Given the description of an element on the screen output the (x, y) to click on. 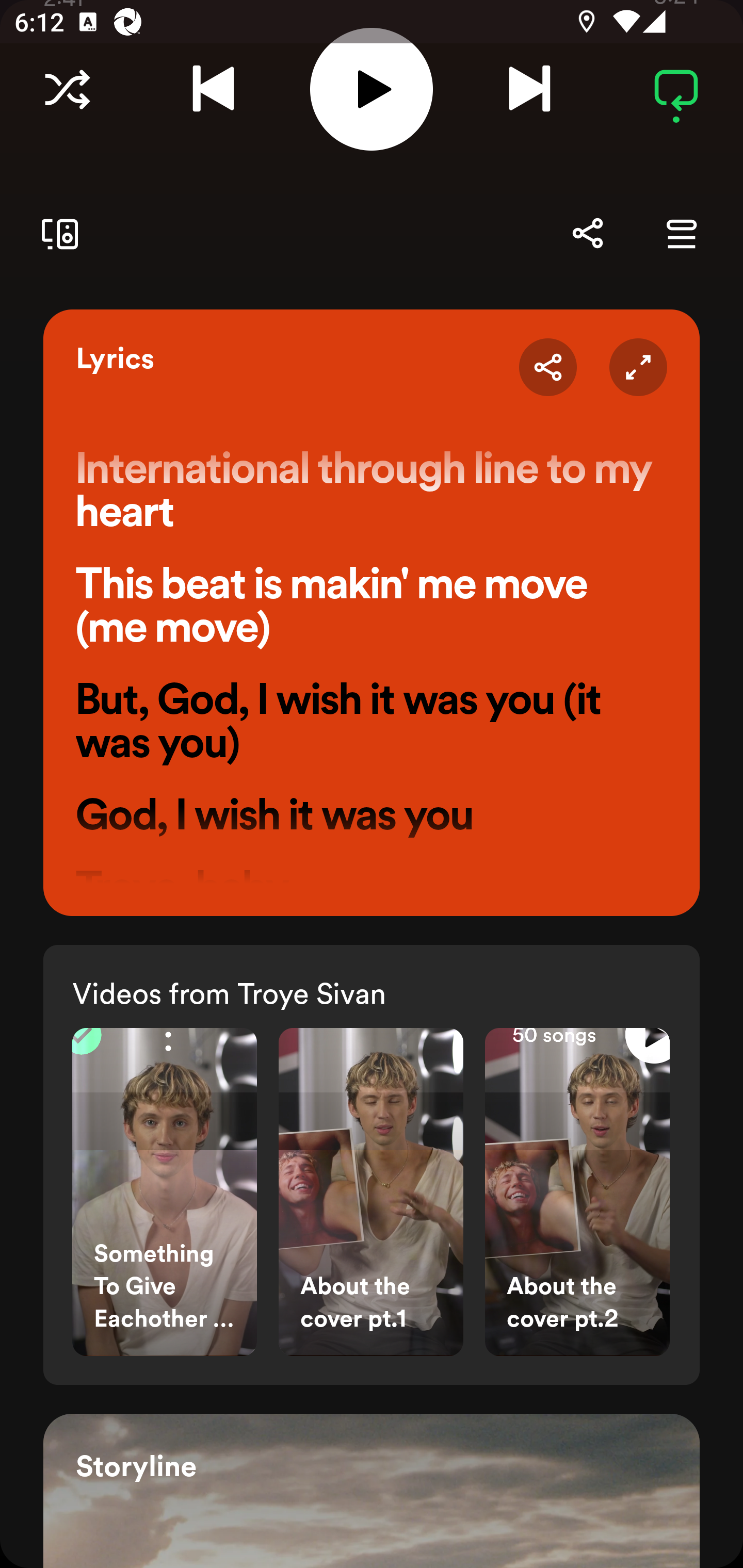
Play (371, 89)
Previous (212, 88)
Next (529, 88)
Choose a Listening Mode (66, 89)
Repeat (676, 89)
Share (587, 233)
Go to Queue (681, 233)
Connect to a device. Opens the devices menu (55, 233)
Share (547, 367)
Expand (638, 367)
Something To Give Eachother is out now!! (164, 1192)
About the cover pt.1 (370, 1192)
About the cover pt.2 (577, 1192)
